Given the description of an element on the screen output the (x, y) to click on. 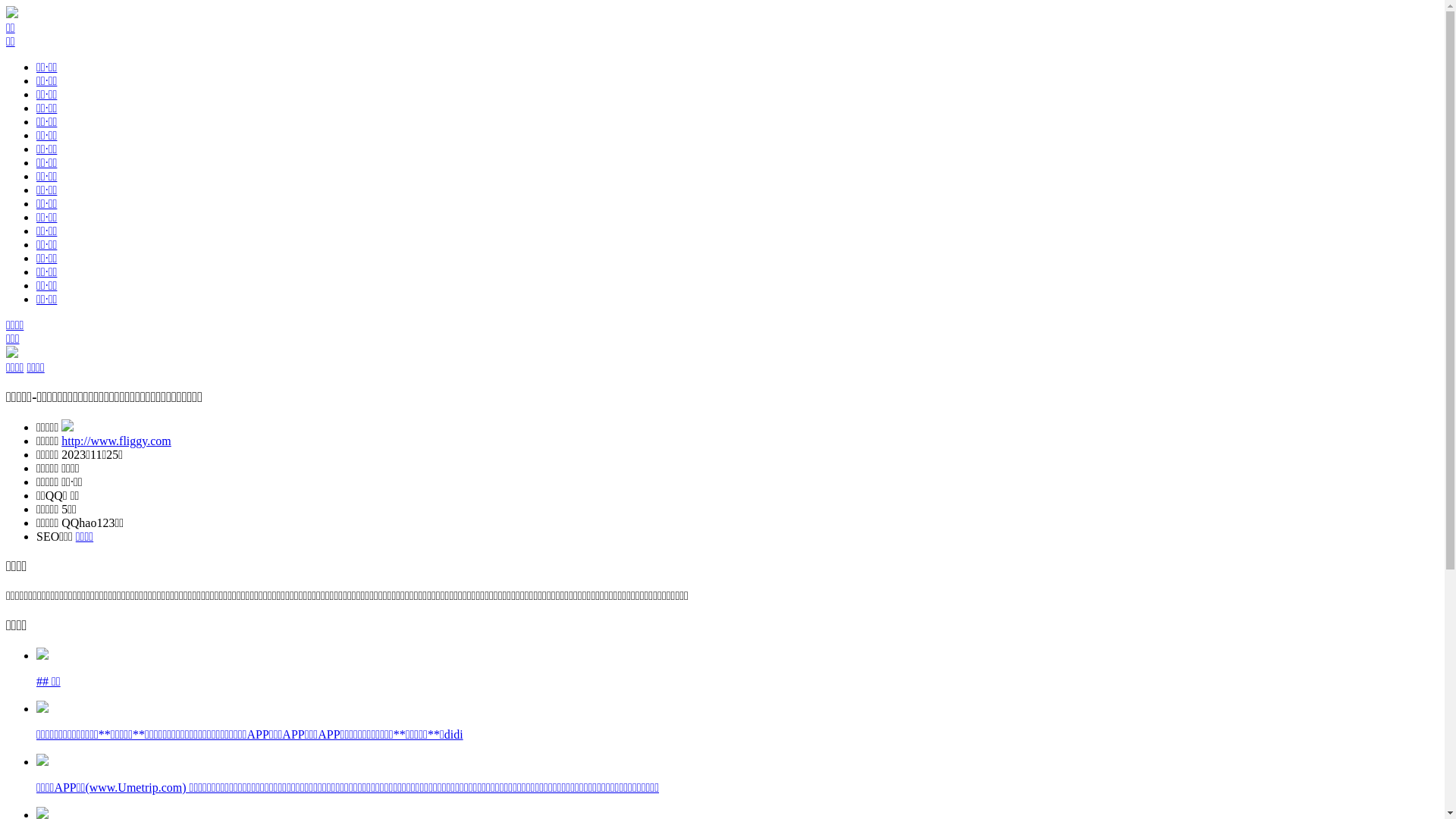
http://www.fliggy.com Element type: text (116, 440)
